Given the description of an element on the screen output the (x, y) to click on. 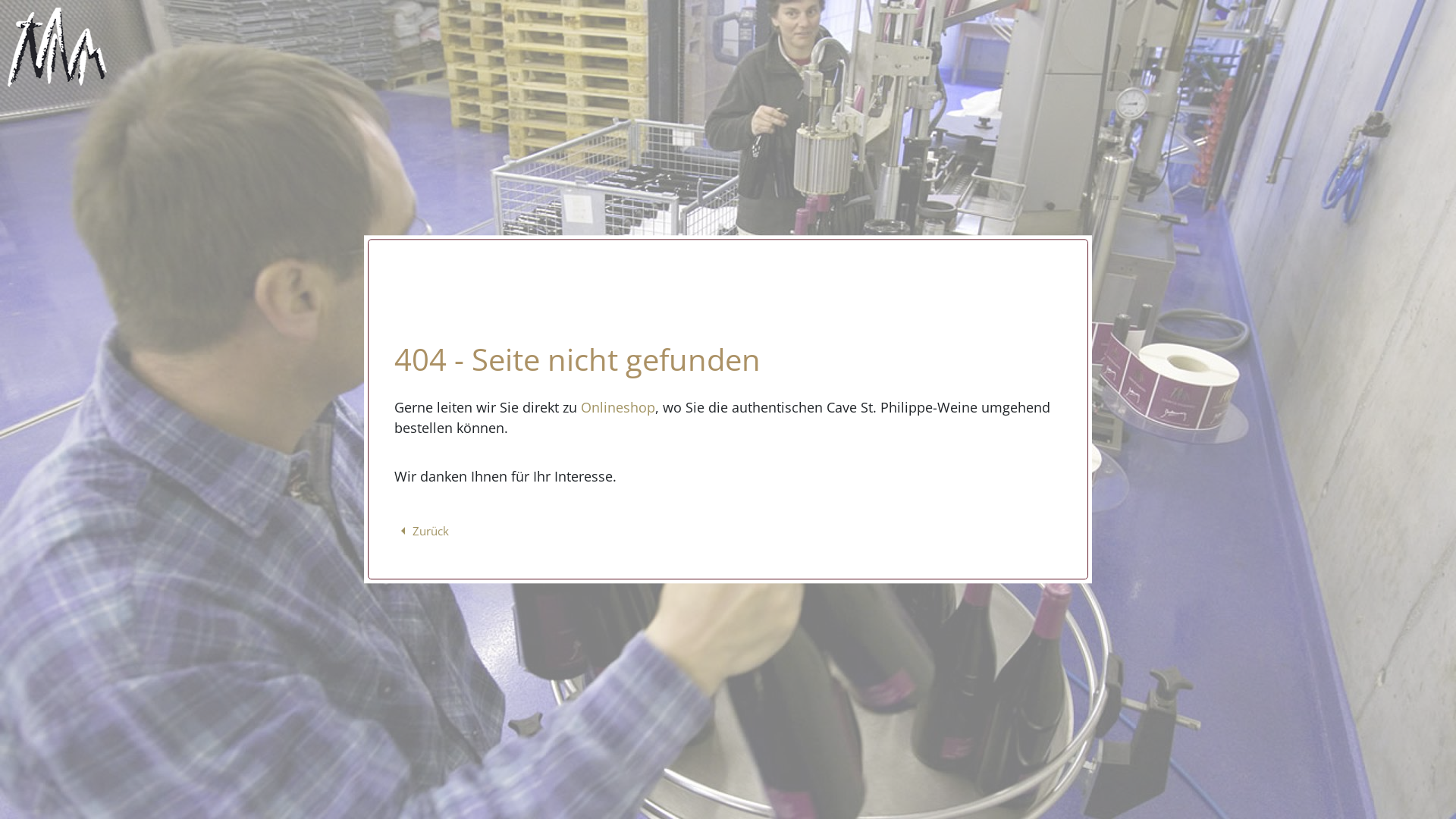
Onlineshop Element type: text (617, 407)
Direkt zum Inhalt Element type: text (0, 0)
